Given the description of an element on the screen output the (x, y) to click on. 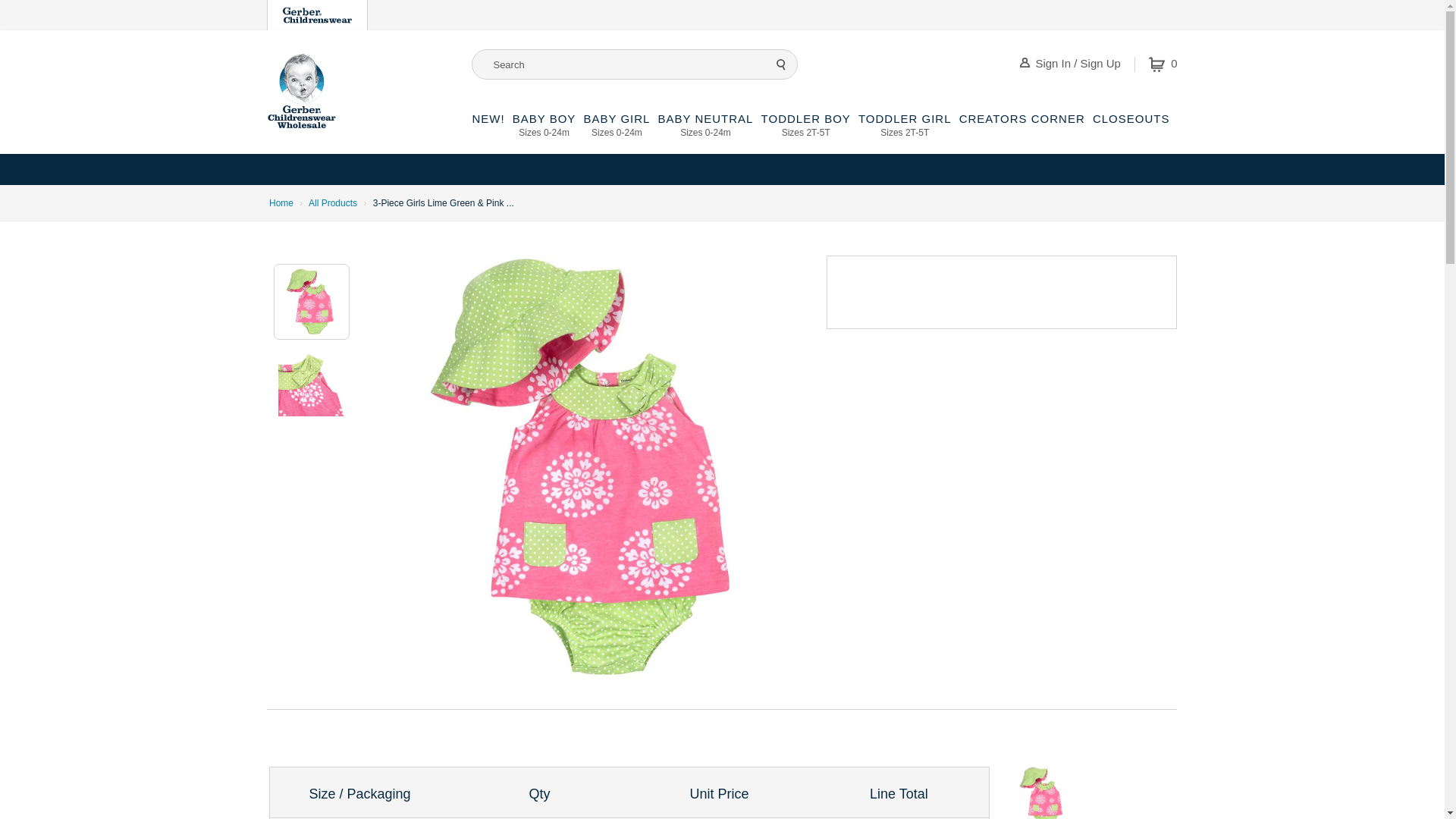
Gerber Childrenswear (616, 132)
Home (316, 15)
Search (544, 132)
